Given the description of an element on the screen output the (x, y) to click on. 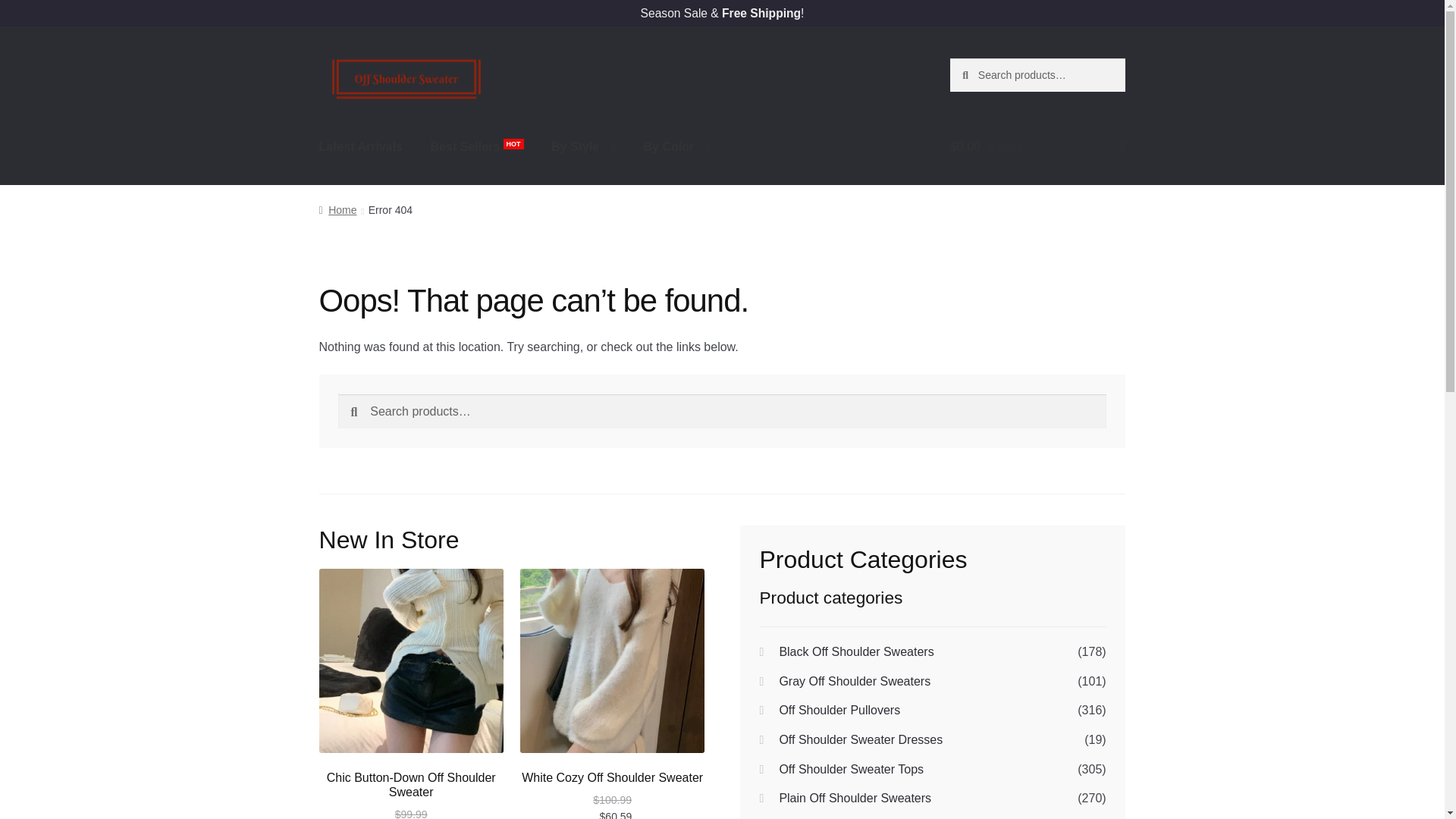
Best Sellers HOT (477, 146)
Home (337, 209)
Black Off Shoulder Sweaters (855, 651)
By Color (676, 146)
Latest Arrivals (360, 146)
Gray Off Shoulder Sweaters (854, 680)
View your shopping cart (1037, 146)
